Given the description of an element on the screen output the (x, y) to click on. 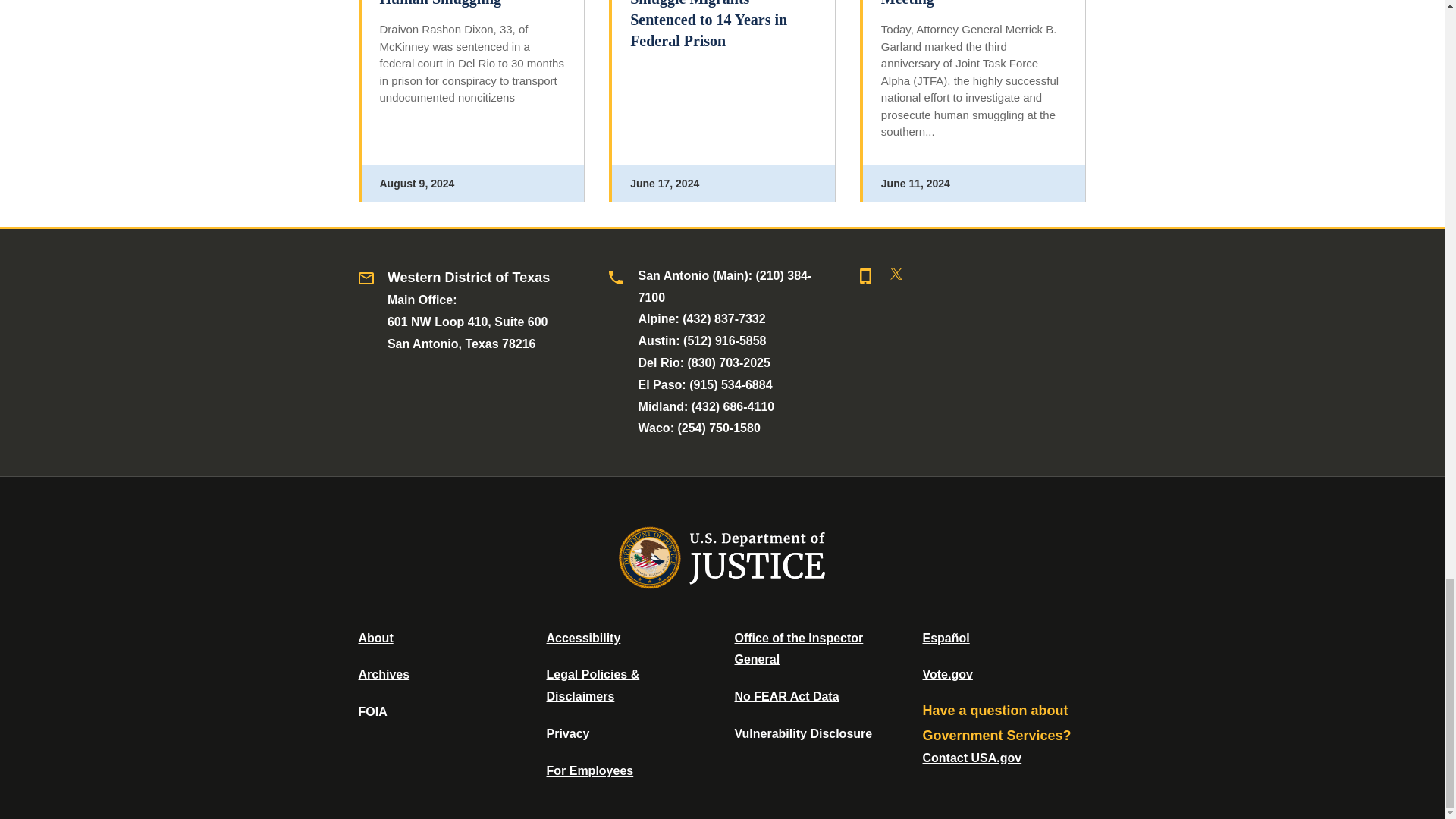
For Employees (589, 770)
About DOJ (375, 637)
Department of Justice Archive (383, 674)
Accessibility Statement (583, 637)
Office of Information Policy (372, 711)
Legal Policies and Disclaimers (592, 685)
Data Posted Pursuant To The No Fear Act (785, 696)
